Given the description of an element on the screen output the (x, y) to click on. 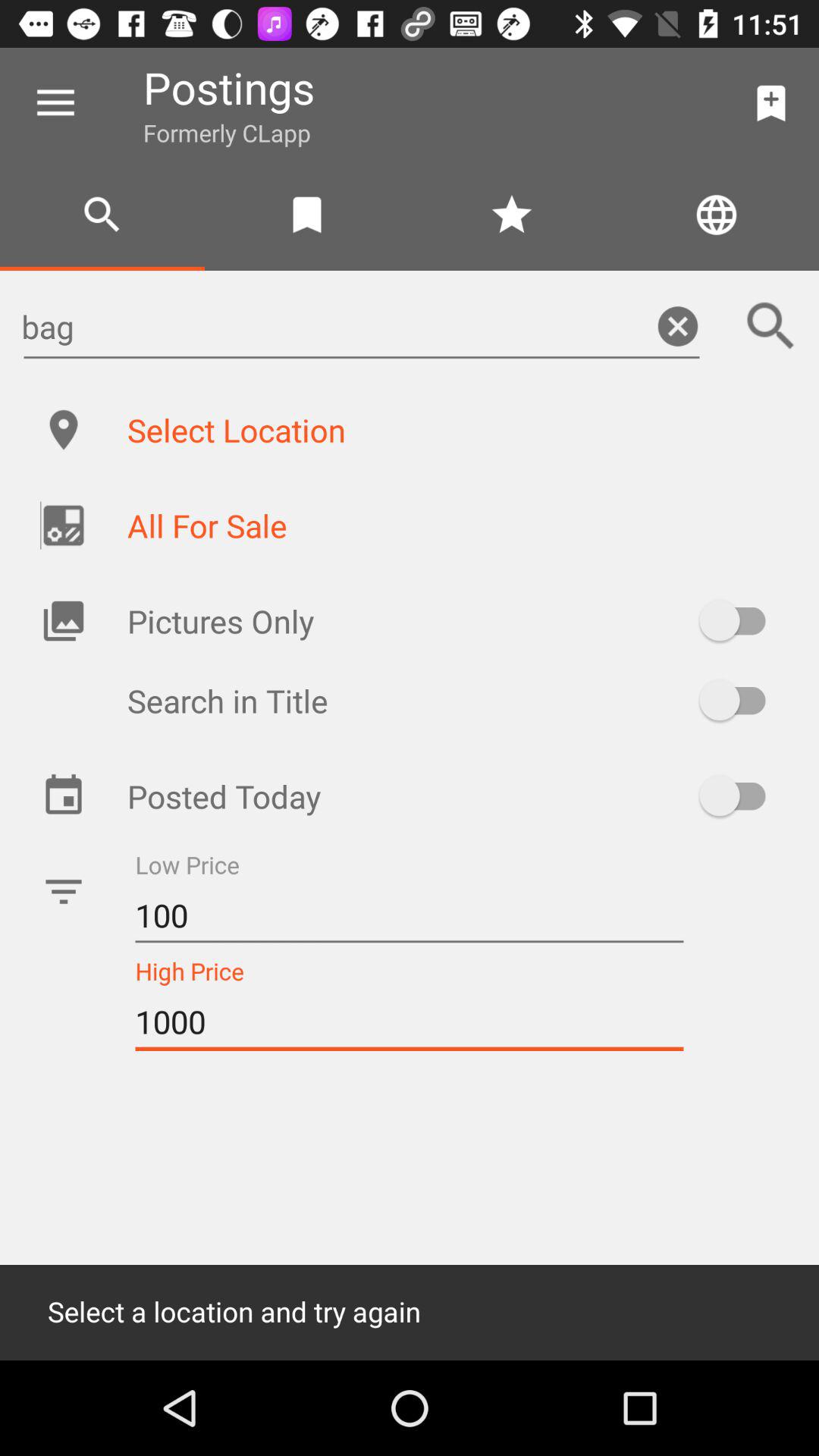
search (771, 326)
